Given the description of an element on the screen output the (x, y) to click on. 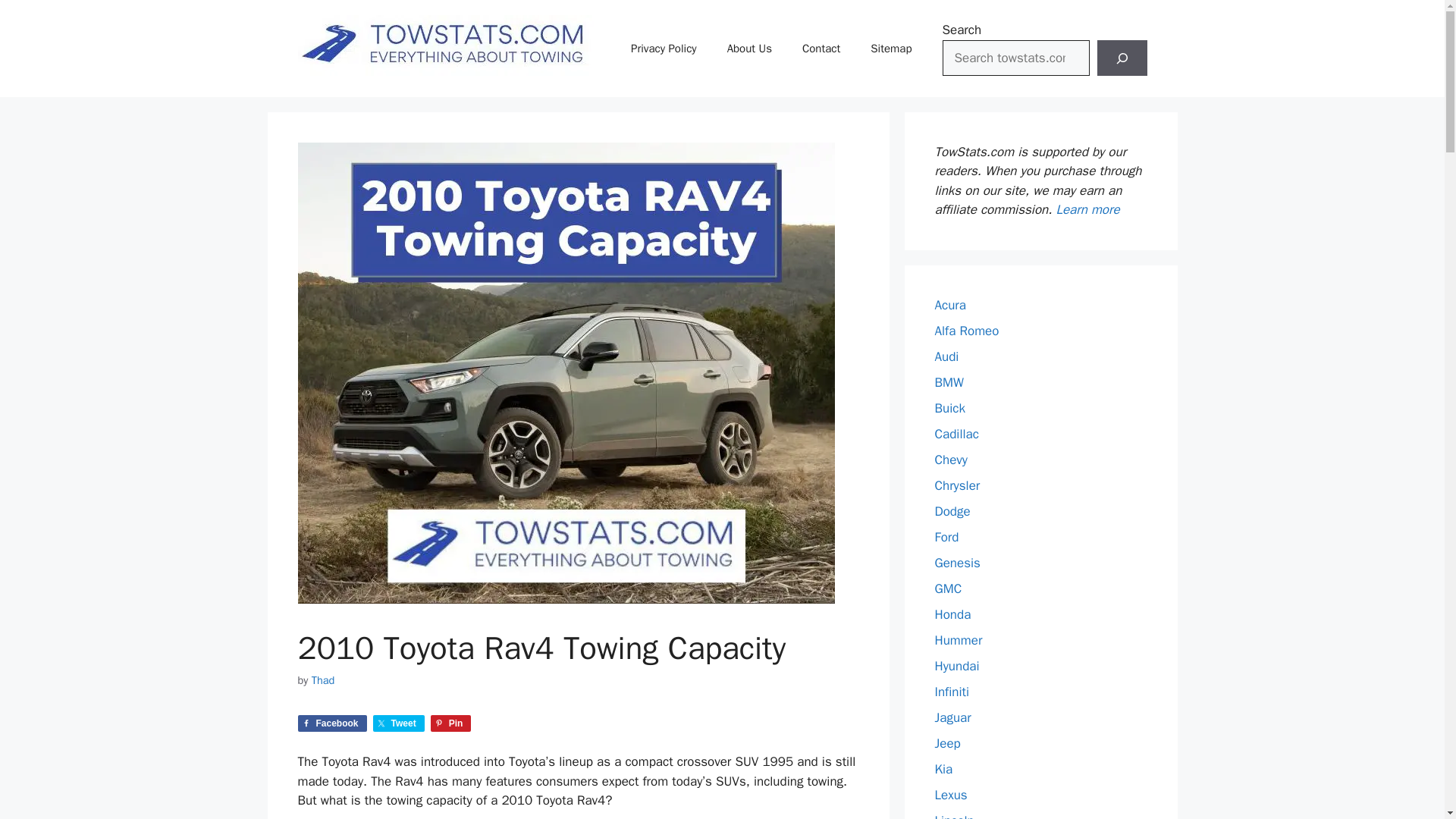
About Us (749, 48)
Facebook (331, 723)
Sitemap (891, 48)
Share on Pinterest (450, 723)
Thad (322, 680)
Share on Facebook (331, 723)
Share on Twitter (398, 723)
Contact (821, 48)
Tweet (398, 723)
Pin (450, 723)
Privacy Policy (663, 48)
View all posts by Thad (322, 680)
